Given the description of an element on the screen output the (x, y) to click on. 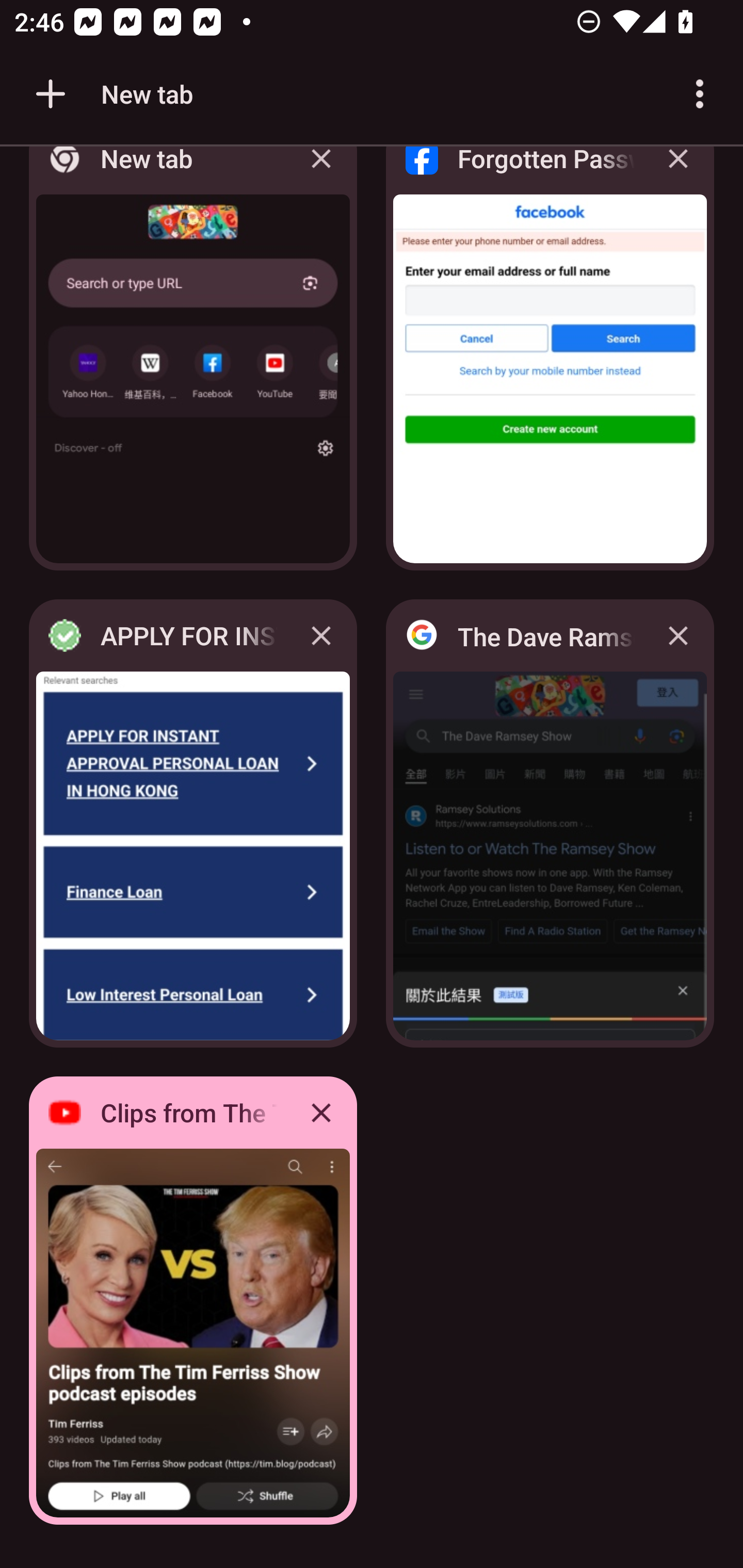
New tab (111, 93)
Customize and control Google Chrome (699, 93)
New tab New tab, tab Close New tab tab (192, 364)
Close New tab tab (320, 173)
Close The Dave Ramsey Show - Google 搜尋 tab (677, 635)
